Given the description of an element on the screen output the (x, y) to click on. 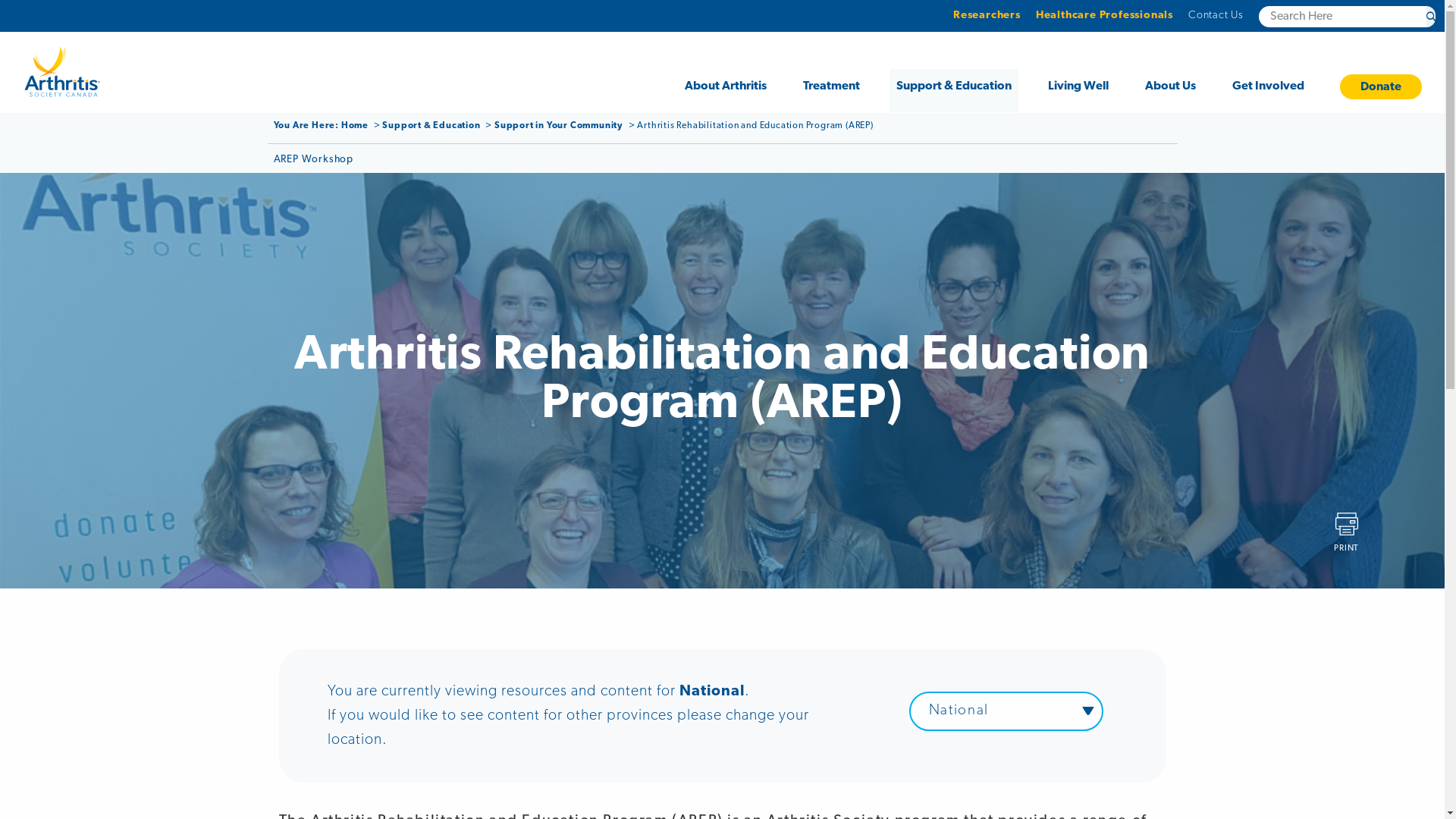
Healthcare Professionals Element type: text (1104, 15)
Contact Us Element type: text (1215, 15)
Donate Element type: text (1380, 86)
Support & Education Element type: text (953, 90)
About Arthritis Element type: text (725, 90)
Get Involved Element type: text (1268, 90)
Search Here Element type: text (1430, 16)
Living Well Element type: text (1078, 90)
Researchers Element type: text (986, 15)
Arthritis Society Canada Element type: text (61, 71)
Treatment Element type: text (831, 90)
Support & Education Element type: text (432, 125)
Support in Your Community Element type: text (560, 125)
AREP Workshop Element type: text (312, 159)
About Us Element type: text (1170, 90)
Home Element type: text (356, 125)
